Given the description of an element on the screen output the (x, y) to click on. 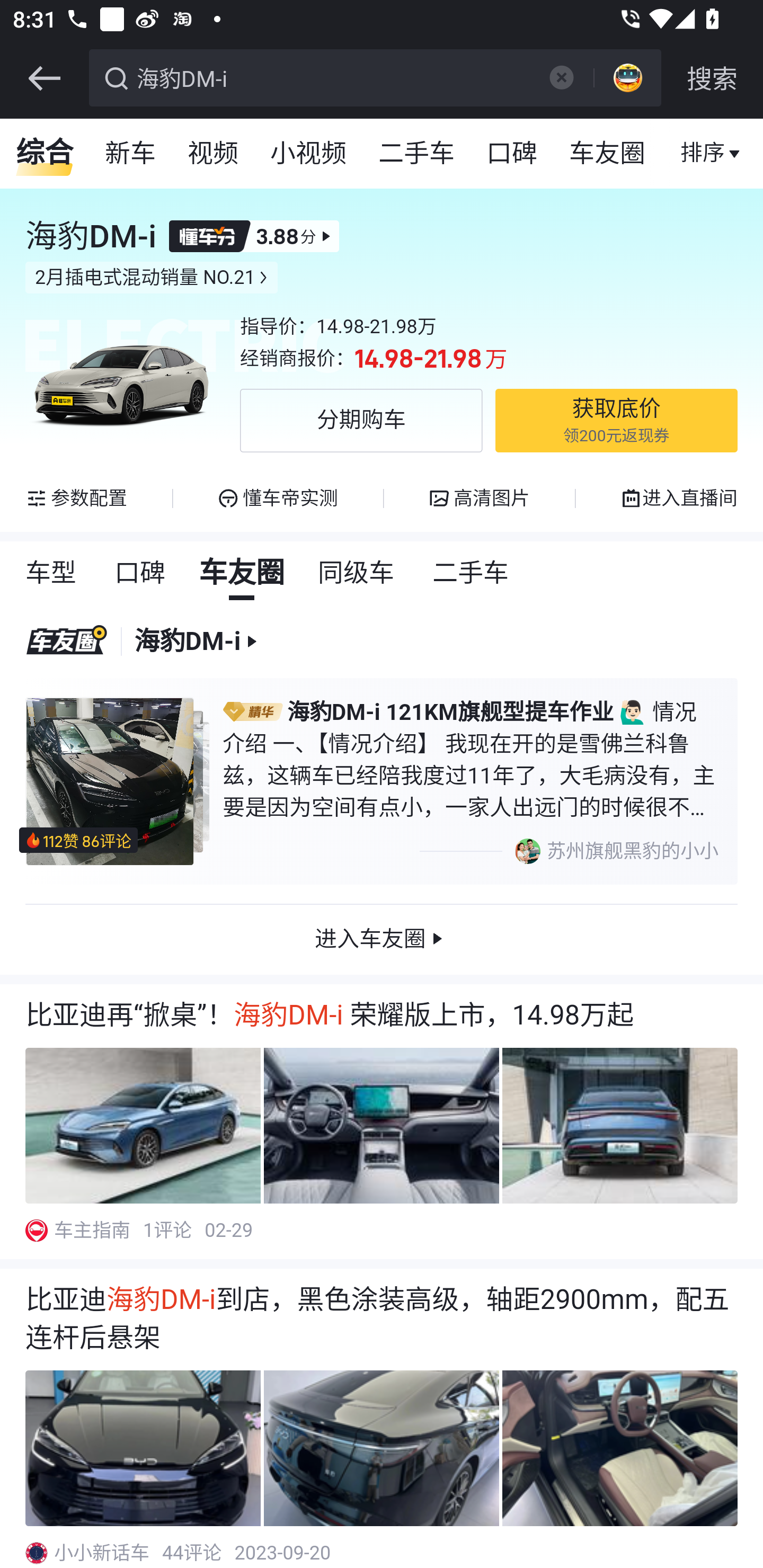
海豹DM-i (331, 76)
 (560, 77)
 (44, 78)
搜索 (711, 78)
综合 (44, 153)
新车 (131, 153)
视频 (213, 153)
小视频 (308, 153)
二手车 (417, 153)
口碑 (512, 153)
车友圈 (608, 153)
直播 (703, 153)
3.88 分 (254, 236)
2月插电式混动销量 NO.21 (151, 277)
经销商报价： 14.98-21.98 万 (488, 358)
分期购车 (361, 420)
获取底价领200元返现券 (615, 420)
参数配置 (76, 498)
懂车帝实测 (276, 498)
高清图片 (479, 498)
进入直播间 (677, 498)
车型 (51, 572)
口碑 (140, 572)
车友圈 (242, 572)
同级车 (357, 572)
二手车 (471, 572)
苏州旗舰黑豹的小小 (568, 851)
进入车友圈 (381, 939)
比亚迪再“掀桌”！海豹DM-i 荣耀版上市，14.98万起 (381, 1014)
车主指南 (92, 1229)
947698e552487f3e111085f96d477897~300x300 (36, 1229)
比亚迪海豹DM-i到店，黑色涂装高级，轴距2900mm，配五连杆后悬架 (381, 1319)
小小新话车 (102, 1553)
91b4473bef990336cca54e8a1b2cd04f~300x300 (36, 1552)
